Given the description of an element on the screen output the (x, y) to click on. 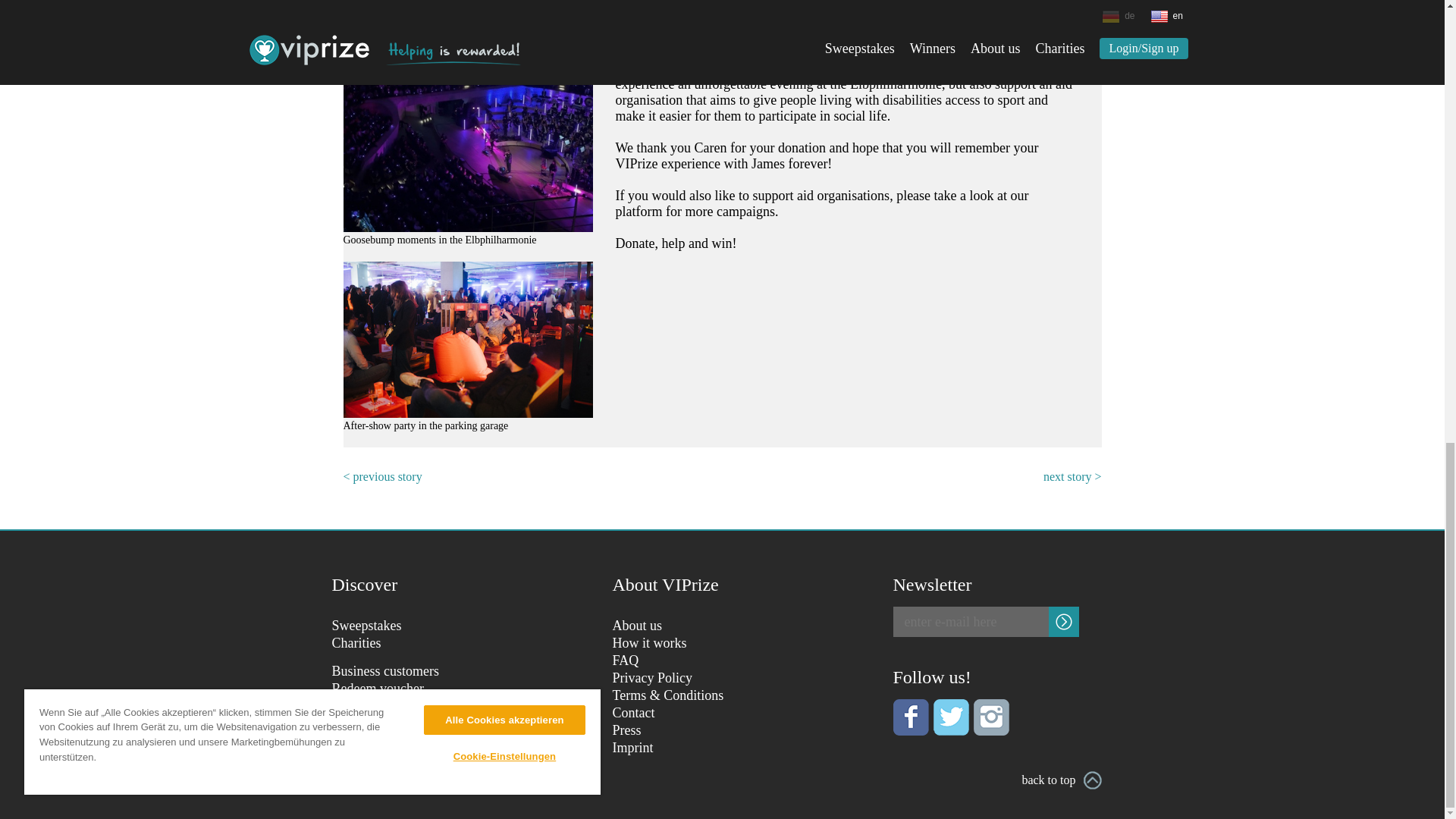
Redeem voucher (377, 688)
Charities (356, 642)
back to top (1061, 780)
Contact (633, 712)
en (402, 759)
Press (627, 729)
Business customers (385, 670)
How it works (649, 642)
Imprint (632, 747)
Sweepstakes (366, 625)
